Given the description of an element on the screen output the (x, y) to click on. 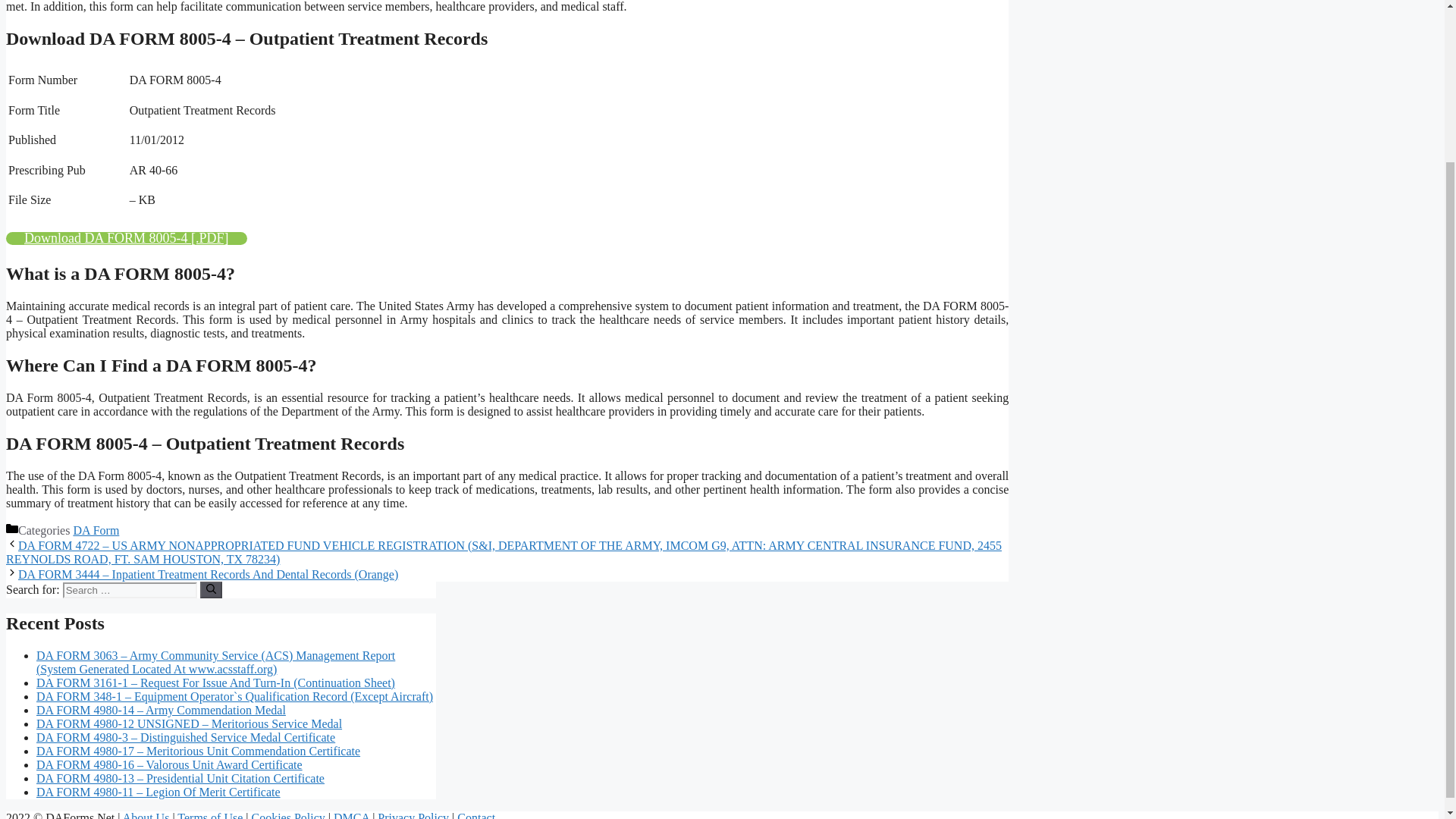
DA Form (95, 530)
Search for: (129, 590)
Download DA FORM 8005-4 (126, 237)
